Given the description of an element on the screen output the (x, y) to click on. 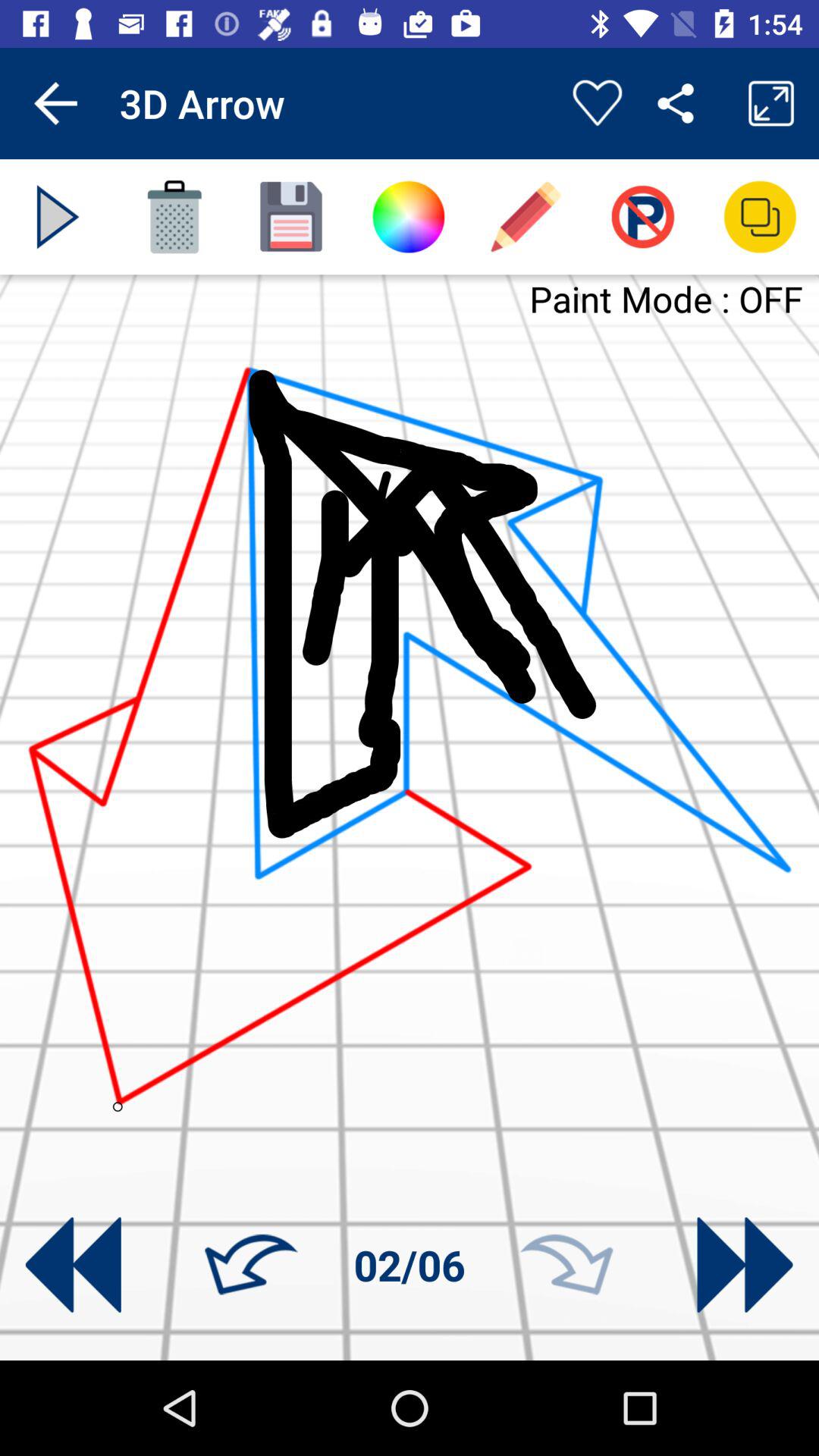
use this to go forward (566, 1264)
